Given the description of an element on the screen output the (x, y) to click on. 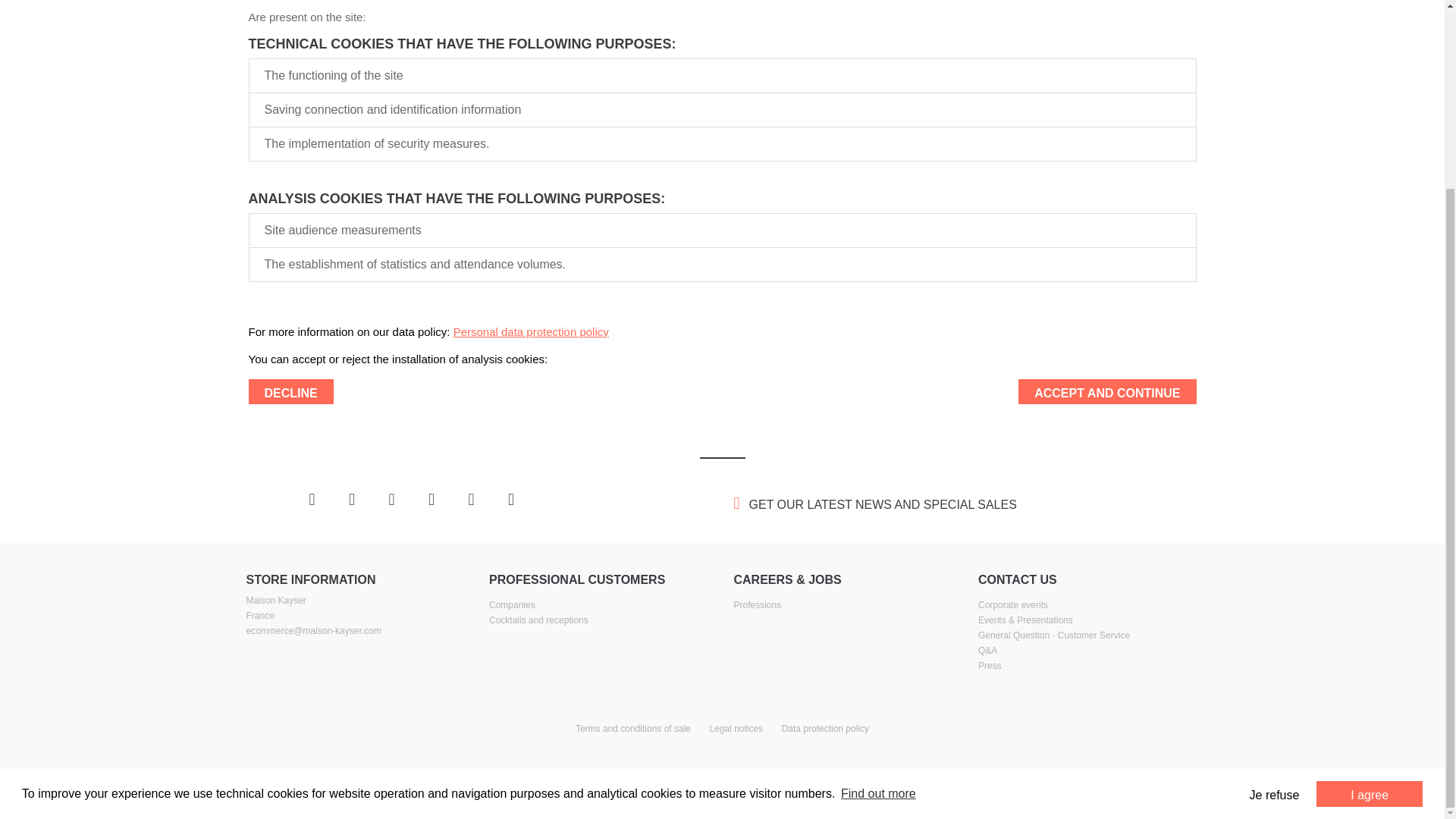
Find out more (878, 559)
I agree (1369, 559)
Je refuse (1274, 559)
